Given the description of an element on the screen output the (x, y) to click on. 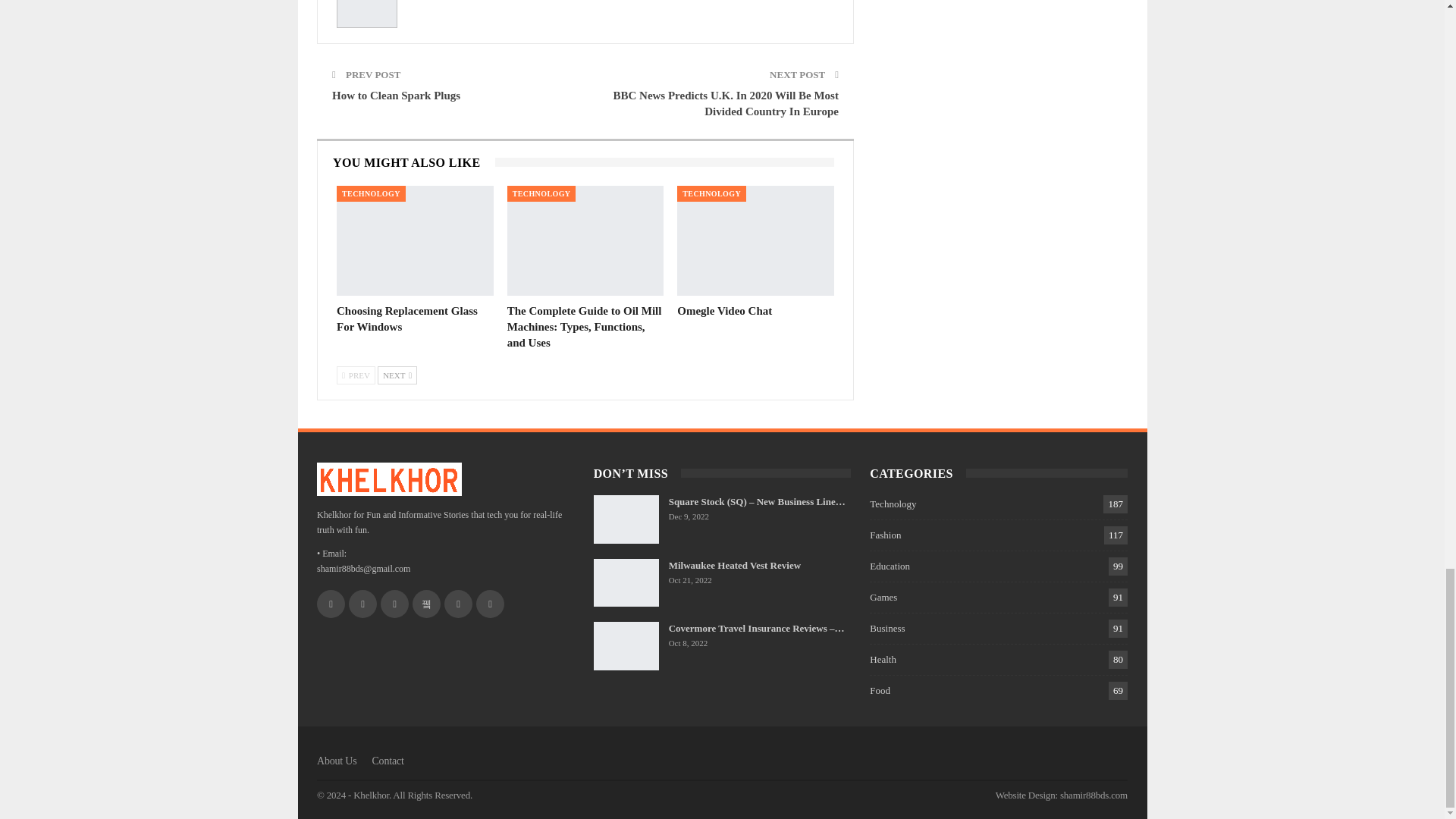
Omegle Video Chat (755, 240)
Choosing Replacement Glass For Windows (406, 318)
Choosing Replacement Glass For Windows (414, 240)
Omegle Video Chat (724, 310)
